Given the description of an element on the screen output the (x, y) to click on. 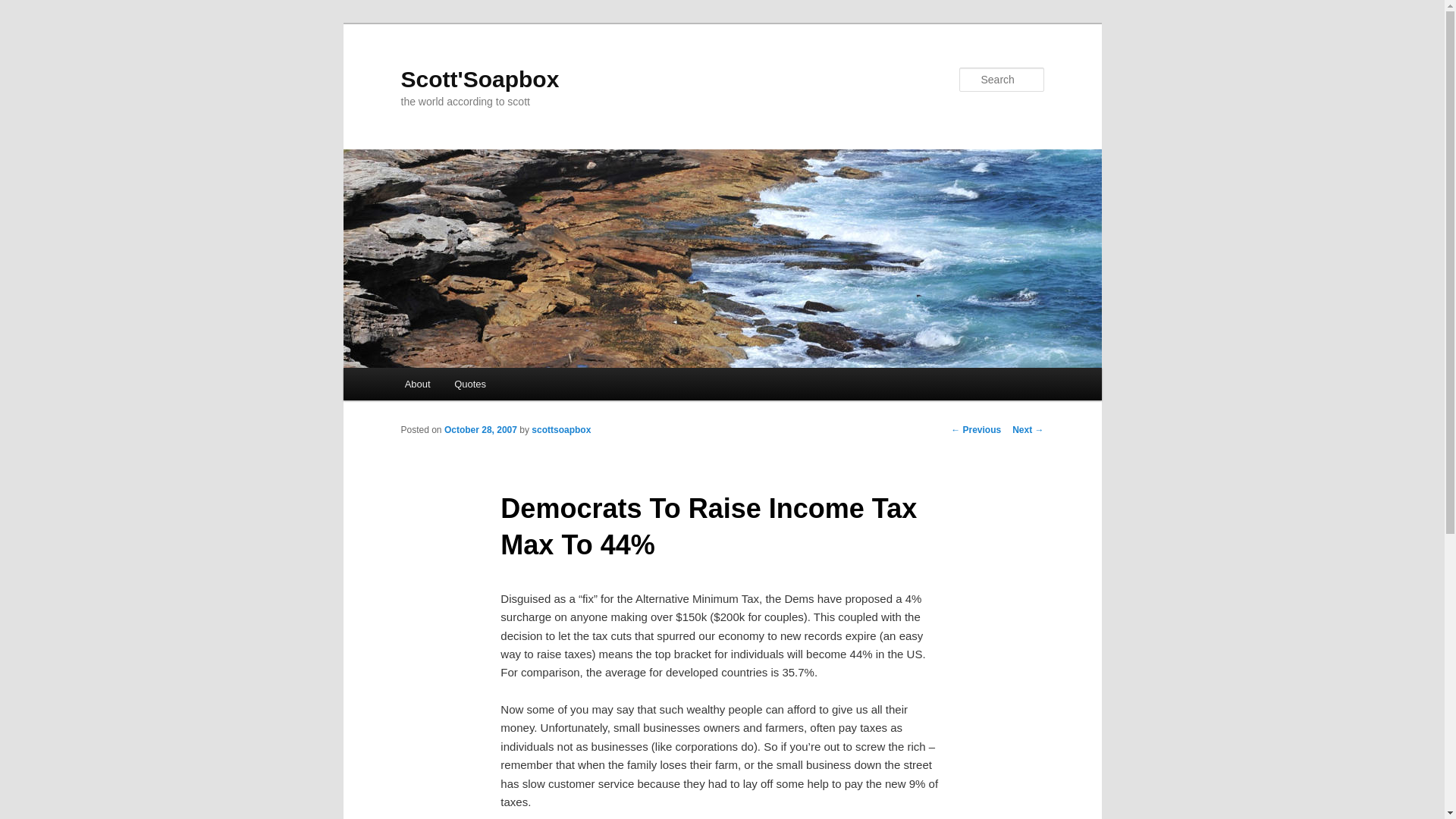
Search (24, 8)
View all posts by scottsoapbox (561, 429)
October 28, 2007 (480, 429)
scottsoapbox (561, 429)
Quotes (469, 383)
Scott'Soapbox (479, 78)
About (417, 383)
